Given the description of an element on the screen output the (x, y) to click on. 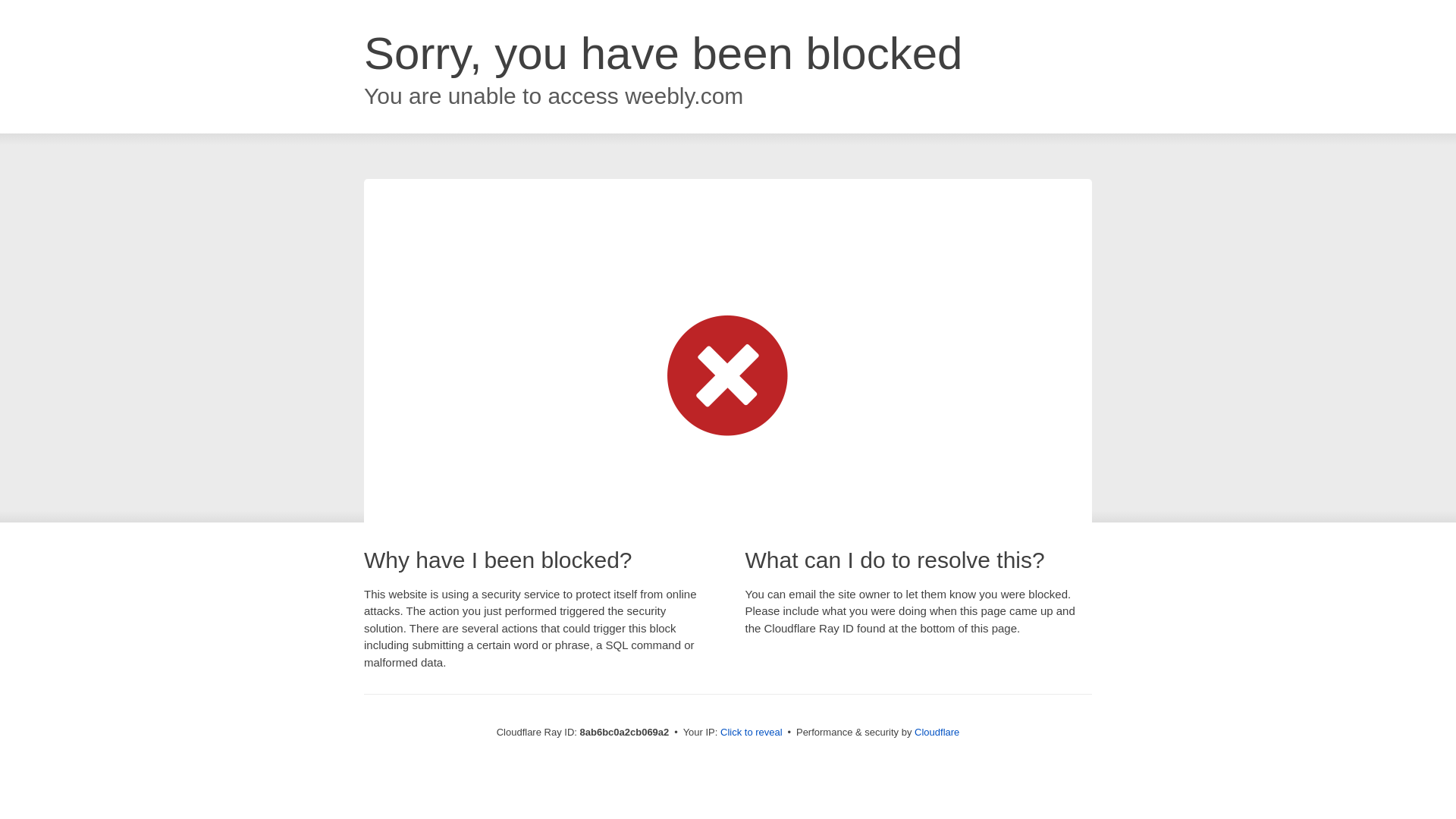
Click to reveal (751, 732)
Cloudflare (936, 731)
